Given the description of an element on the screen output the (x, y) to click on. 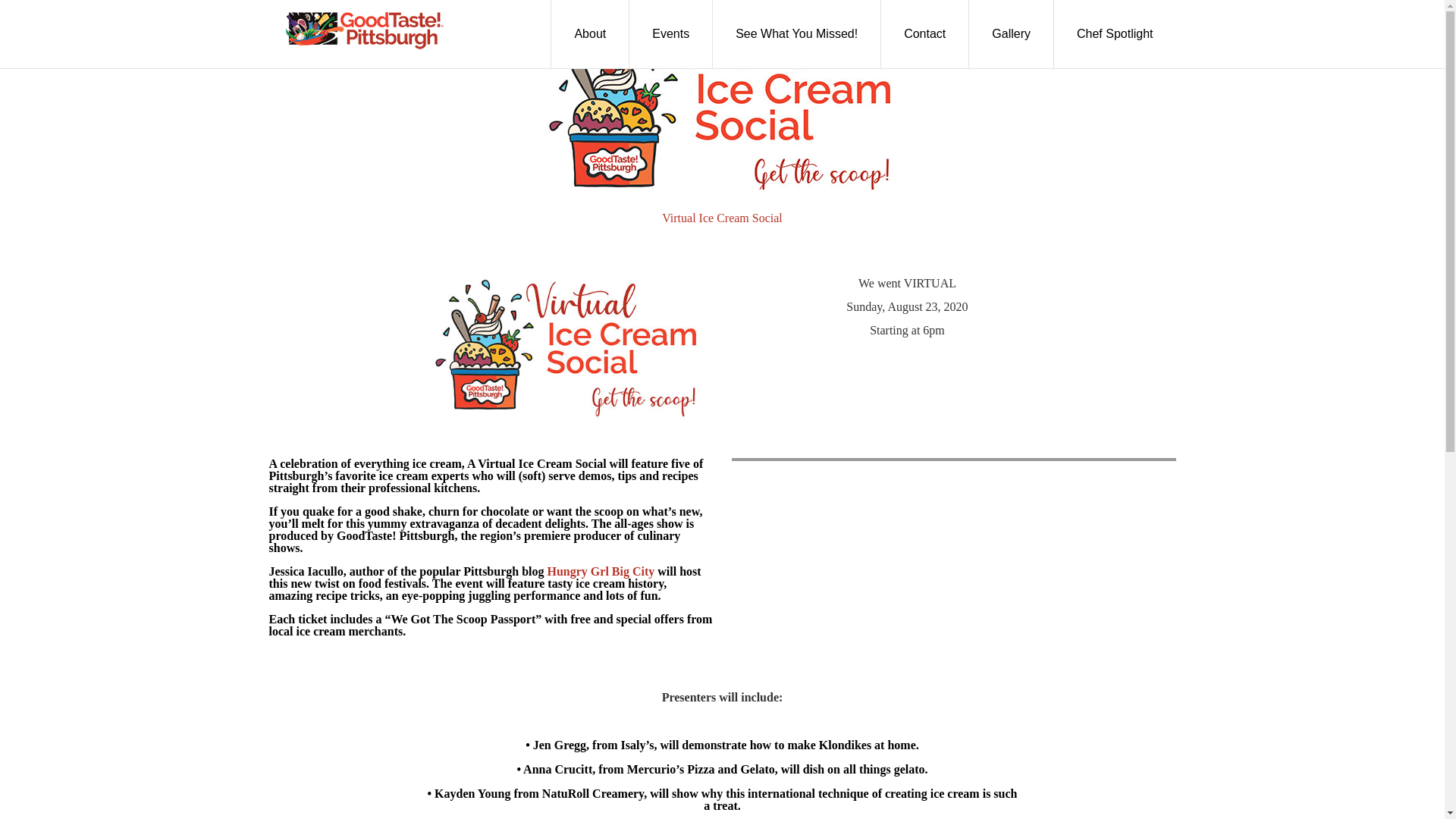
Gallery (1011, 33)
About (589, 33)
Hungry Grl Big City (601, 571)
GoodTaste! Pittsburgh (362, 30)
Contact (924, 33)
Events (670, 33)
Chef Spotlight (1115, 33)
See What You Missed! (796, 33)
